Given the description of an element on the screen output the (x, y) to click on. 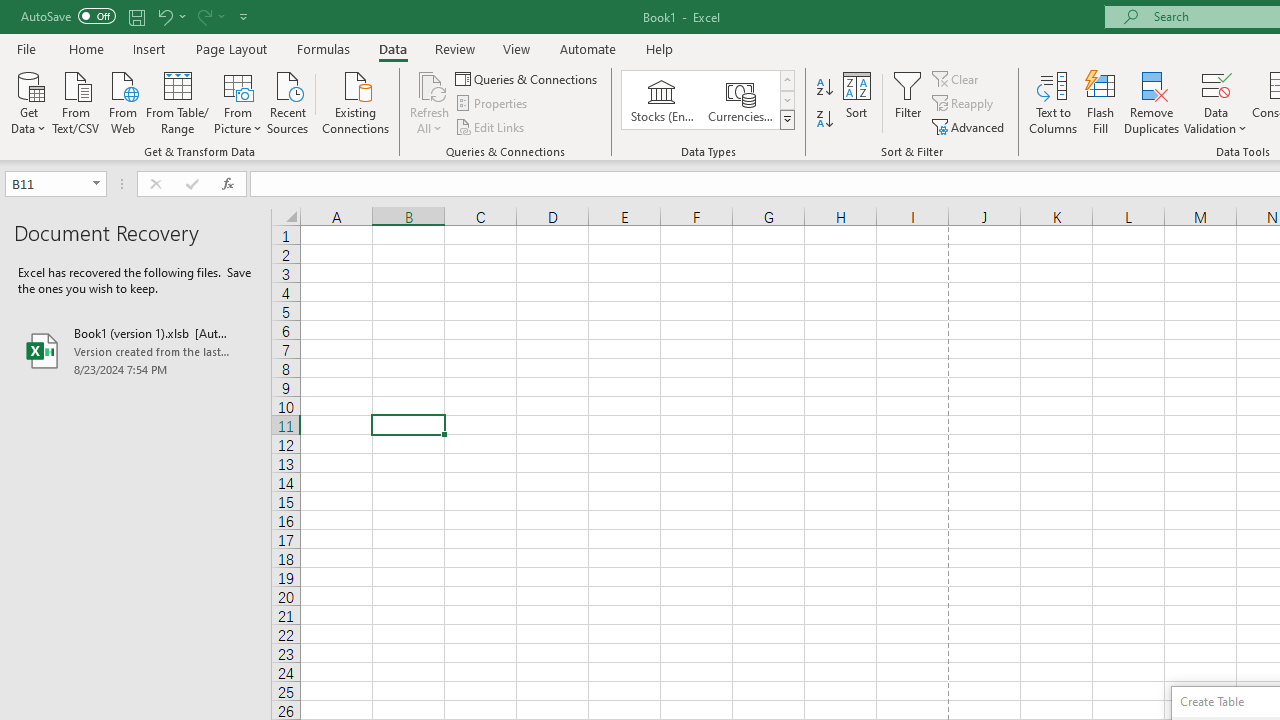
Refresh All (429, 102)
Name Box (46, 183)
Existing Connections (355, 101)
File Tab (26, 48)
Flash Fill (1101, 102)
Data (392, 48)
From Picture (238, 101)
Row up (786, 79)
Remove Duplicates (1151, 102)
Currencies (English) (740, 100)
From Table/Range (177, 101)
Open (96, 183)
Save (136, 15)
View (517, 48)
Formulas (323, 48)
